Given the description of an element on the screen output the (x, y) to click on. 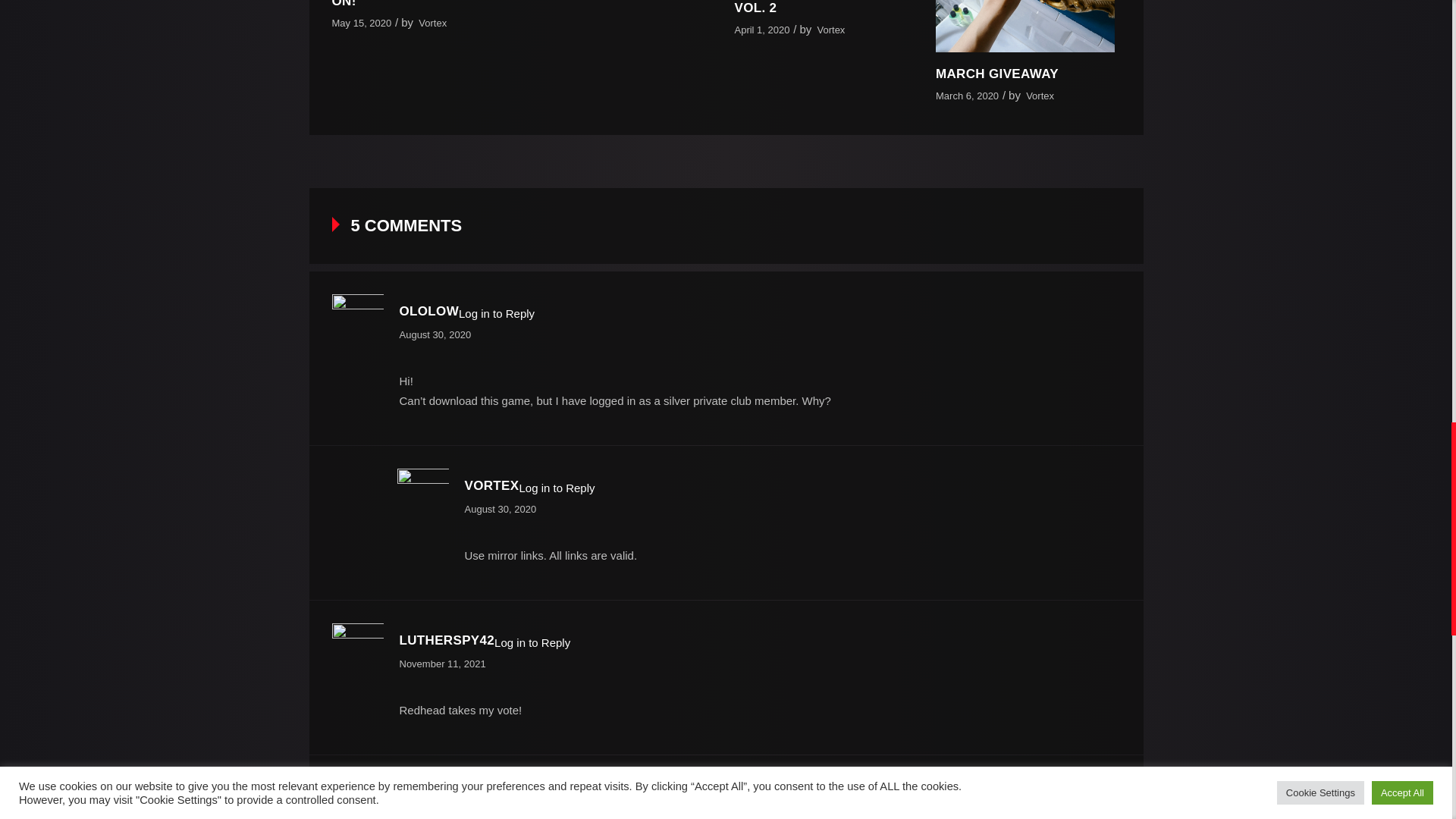
March Giveaway (997, 73)
March Giveaway (1025, 26)
